Given the description of an element on the screen output the (x, y) to click on. 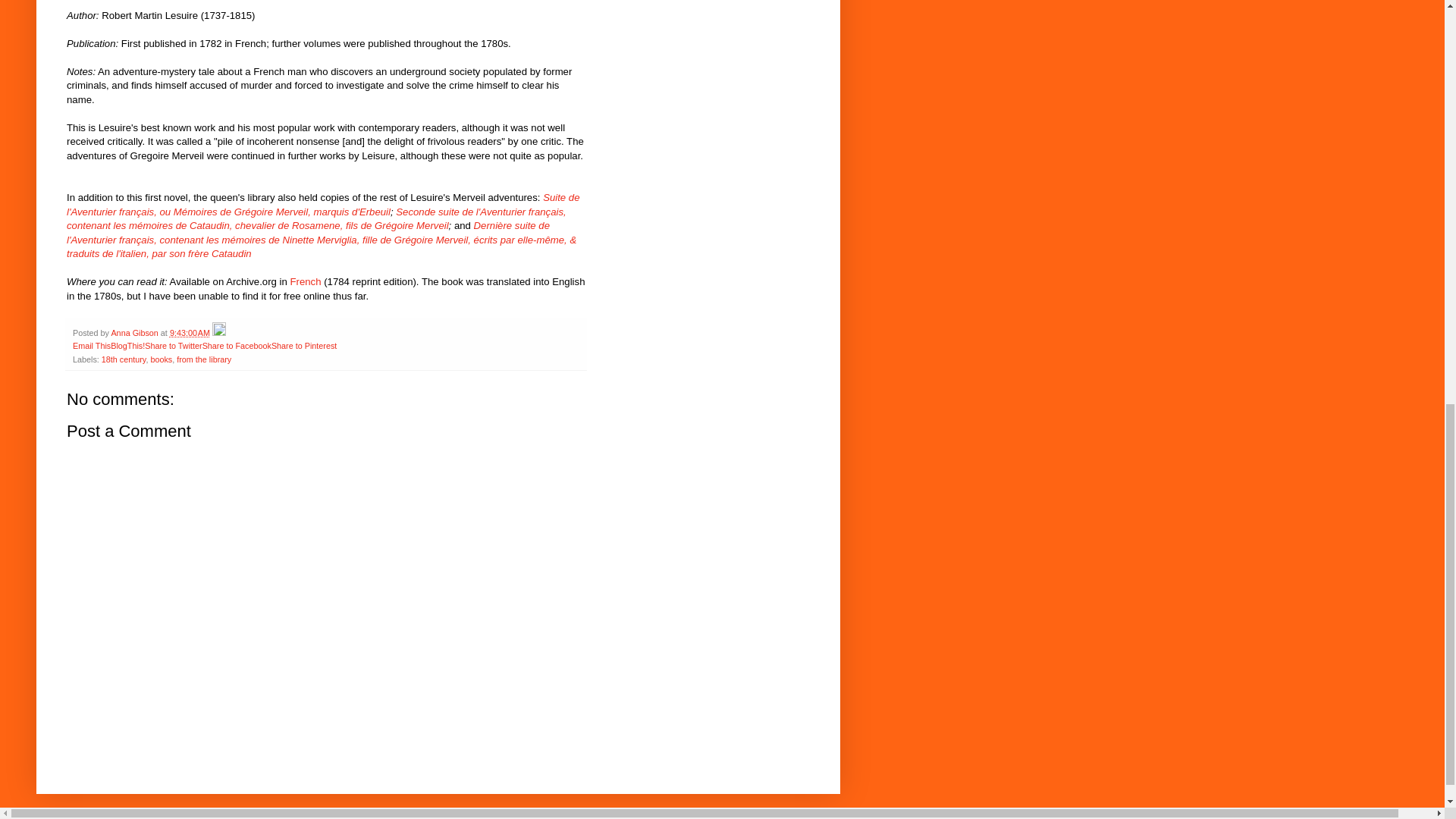
Share to Facebook (236, 345)
French (304, 281)
Anna Gibson (135, 332)
from the library (203, 358)
Share to Twitter (173, 345)
Email This (91, 345)
Share to Pinterest (303, 345)
Edit Post (218, 332)
author profile (135, 332)
Share to Facebook (236, 345)
